Given the description of an element on the screen output the (x, y) to click on. 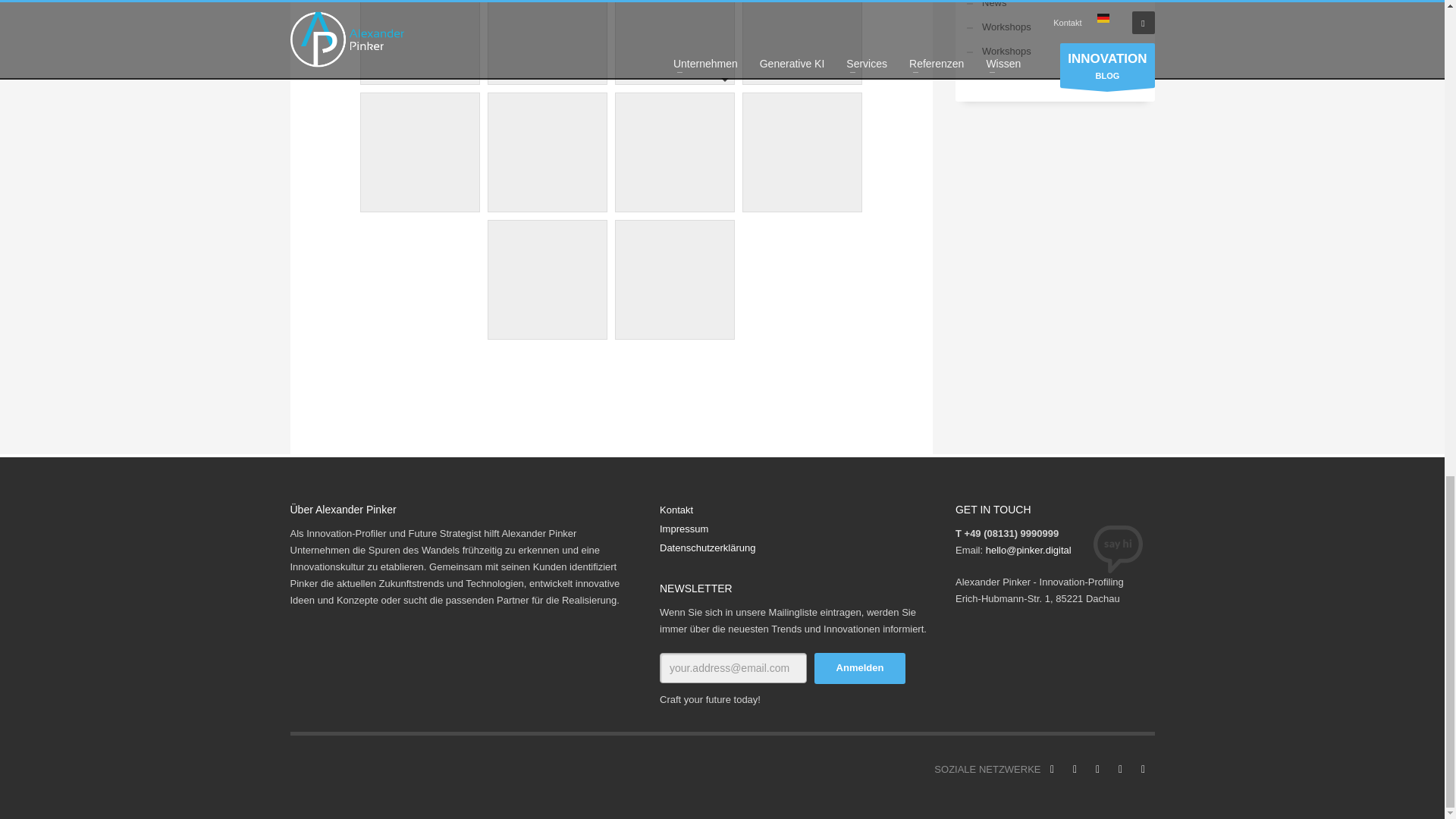
Anmelden (859, 667)
